Given the description of an element on the screen output the (x, y) to click on. 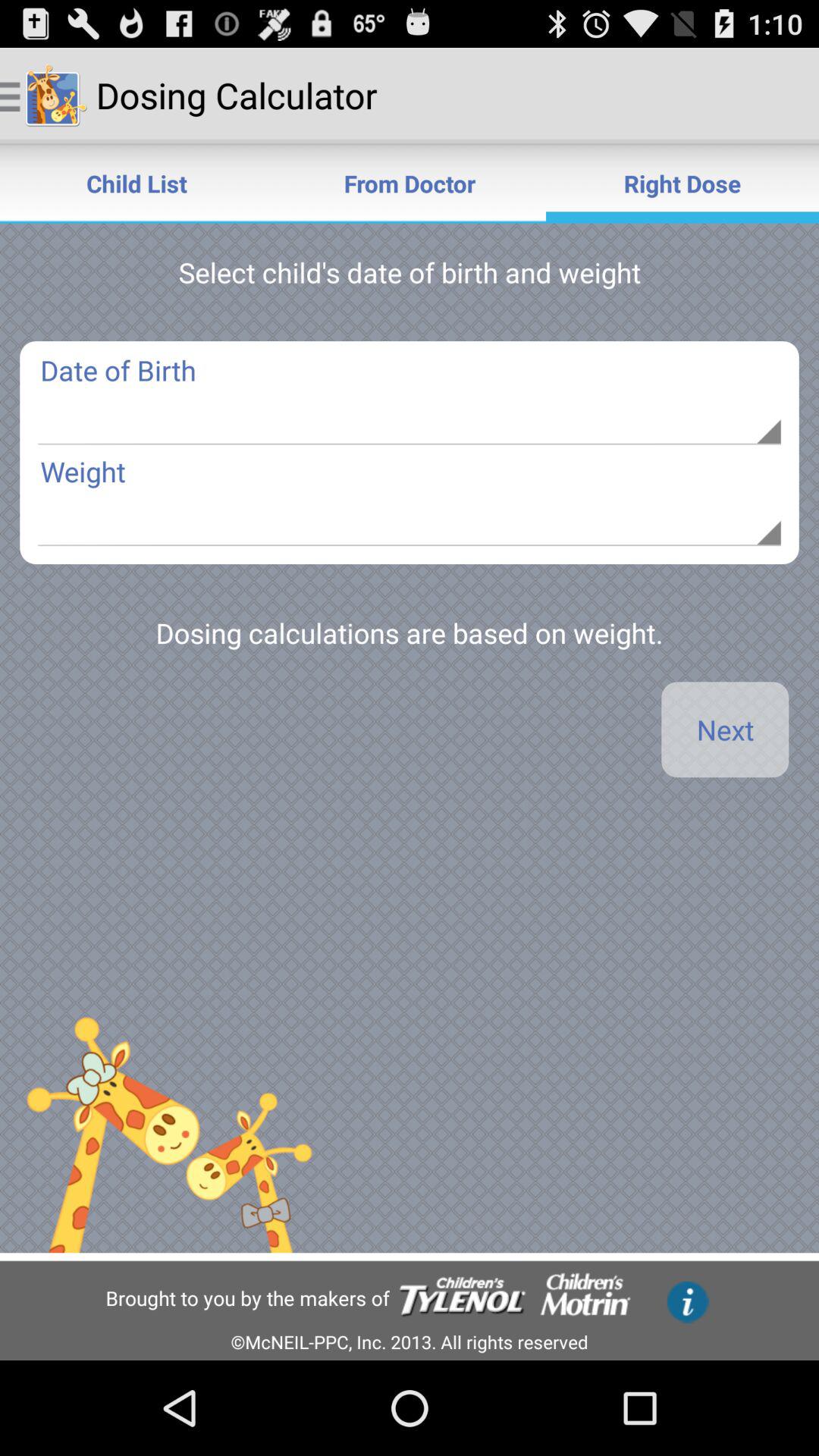
swipe until the from doctor icon (409, 183)
